Given the description of an element on the screen output the (x, y) to click on. 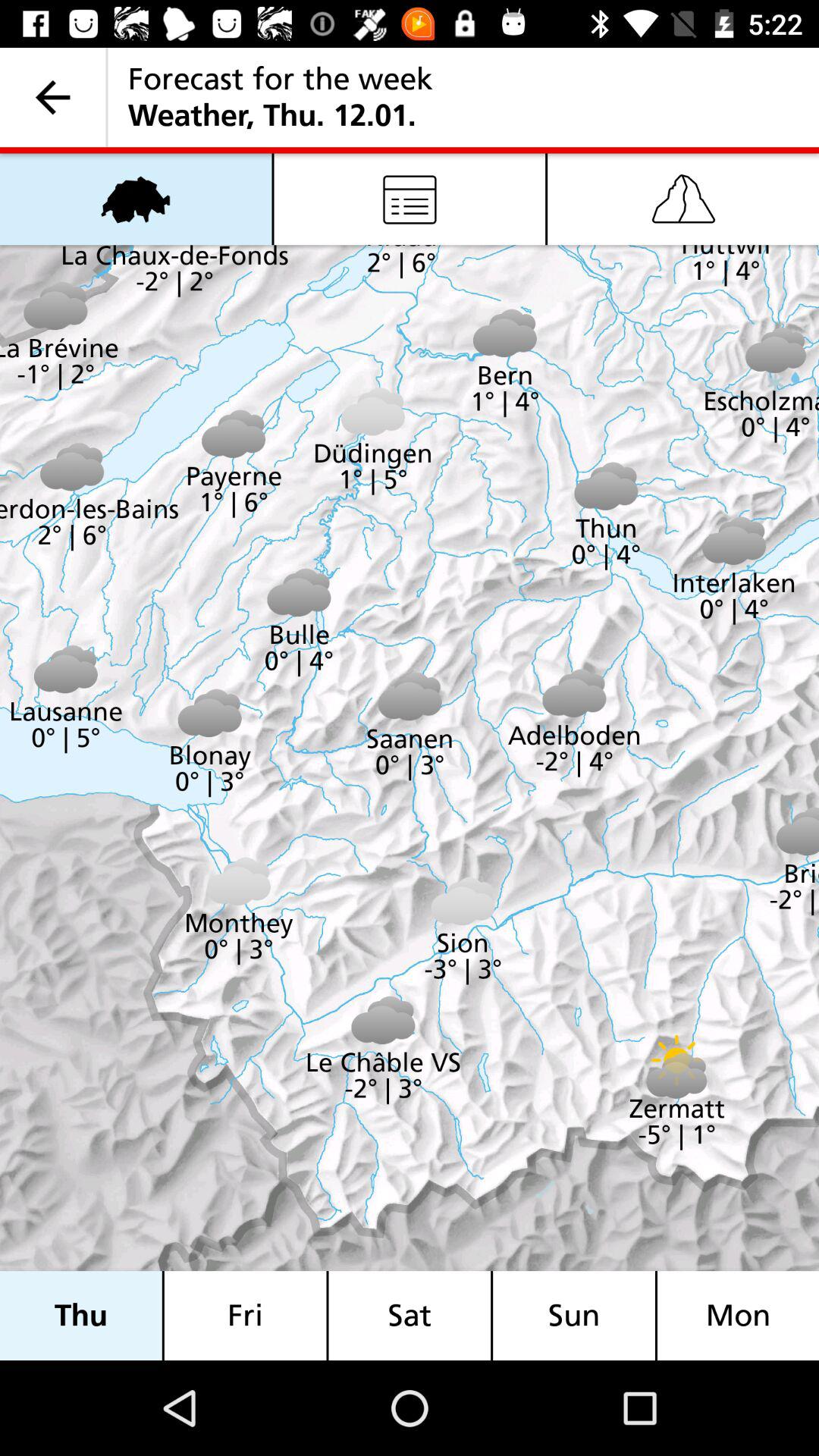
tap item to the right of the sun item (738, 1315)
